Given the description of an element on the screen output the (x, y) to click on. 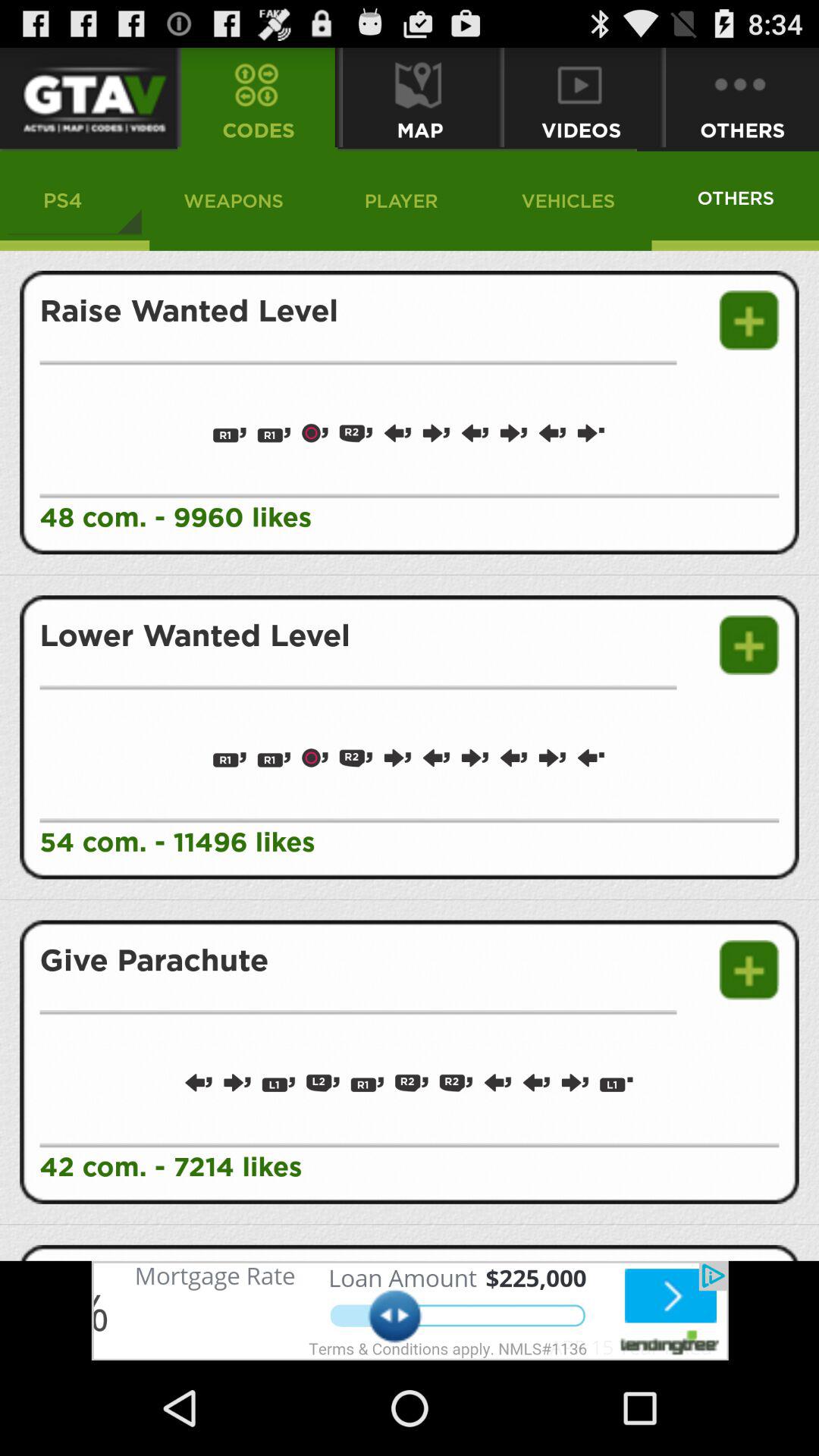
to click go to particular page (86, 97)
